Given the description of an element on the screen output the (x, y) to click on. 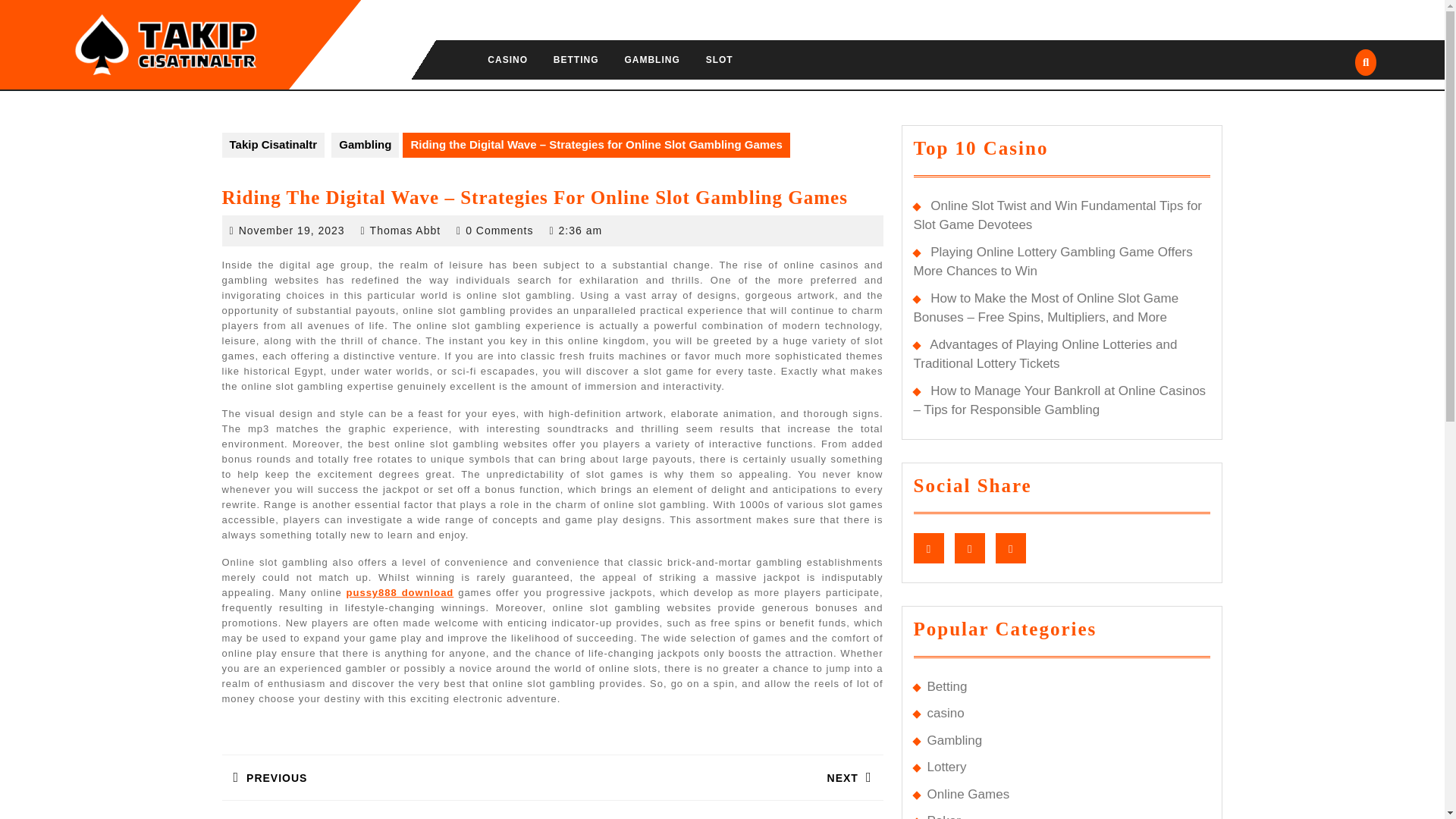
Gambling (386, 764)
Gambling (364, 145)
CASINO (953, 740)
GAMBLING (507, 59)
Thomas Abbt (651, 59)
SLOT (405, 230)
Takip Cisatinaltr (719, 59)
